Given the description of an element on the screen output the (x, y) to click on. 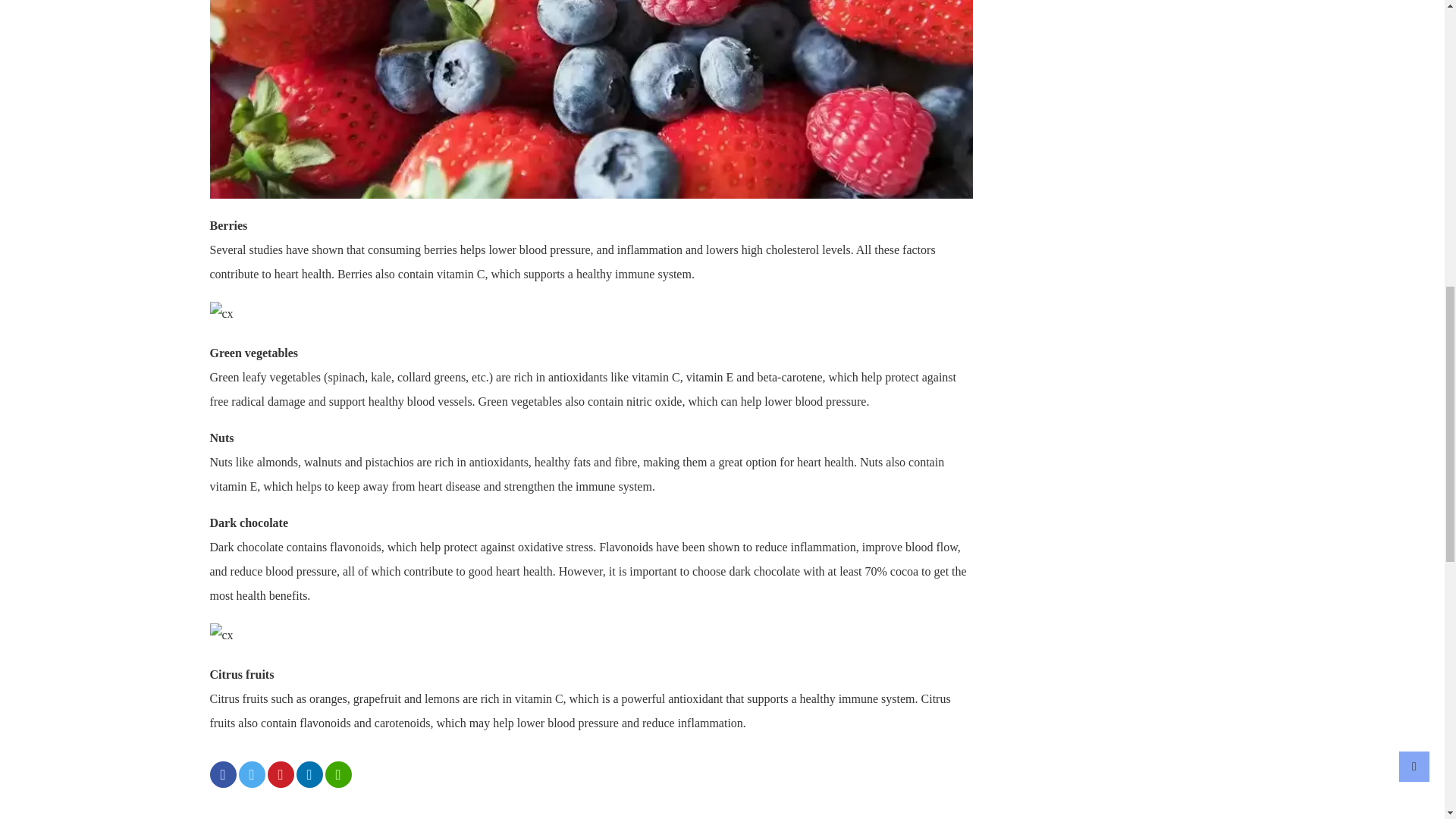
YouTube video player (590, 812)
